Given the description of an element on the screen output the (x, y) to click on. 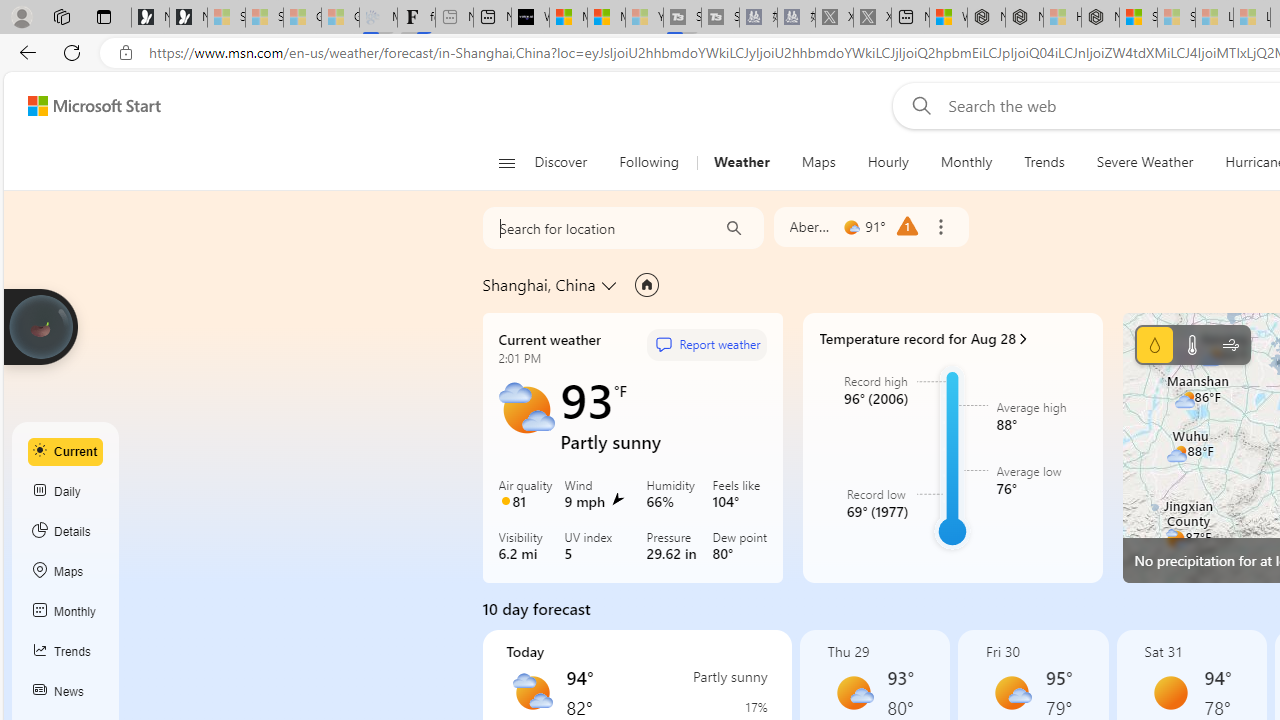
Precipitation (1154, 344)
Current (65, 451)
Change location (610, 285)
Maps (818, 162)
Precipitation (735, 707)
Monthly (966, 162)
Air quality 81 (526, 495)
Sunny (1169, 692)
Trends (1044, 162)
Trends (65, 651)
Remove location (940, 227)
